Given the description of an element on the screen output the (x, y) to click on. 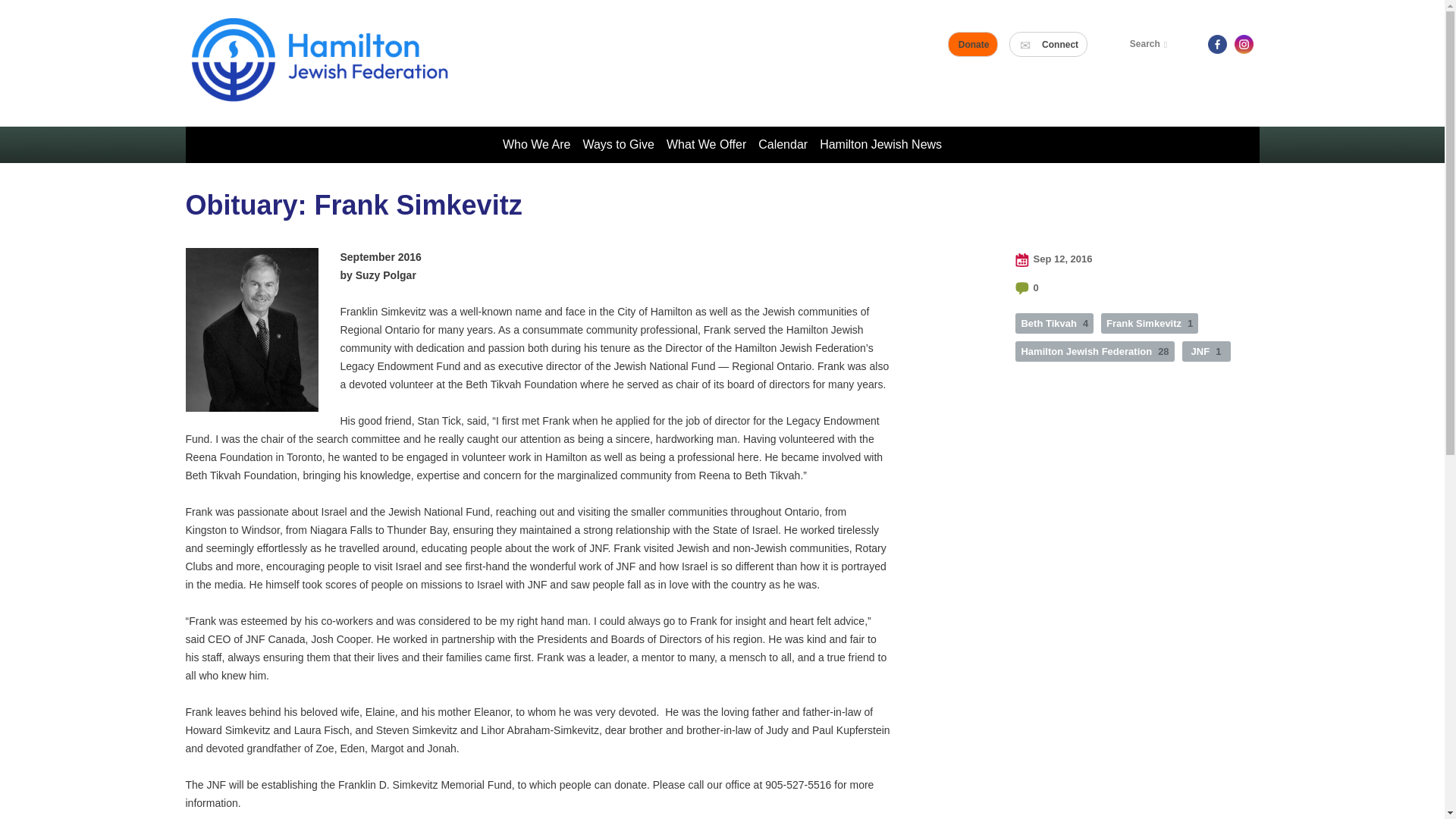
What We Offer (706, 144)
0 (1026, 287)
Connect (1049, 44)
Frank Simkevitz1 (1149, 322)
Hamilton Jewish Federation28 (1093, 351)
Search (1151, 43)
Calendar (782, 144)
Who We Are (536, 144)
Hamilton Jewish Federation (319, 62)
JNF1 (1205, 351)
Sep 12, 2016 (1053, 258)
Hamilton Jewish News (880, 144)
Beth Tikvah4 (1053, 322)
Donate (974, 44)
Ways to Give (618, 144)
